Given the description of an element on the screen output the (x, y) to click on. 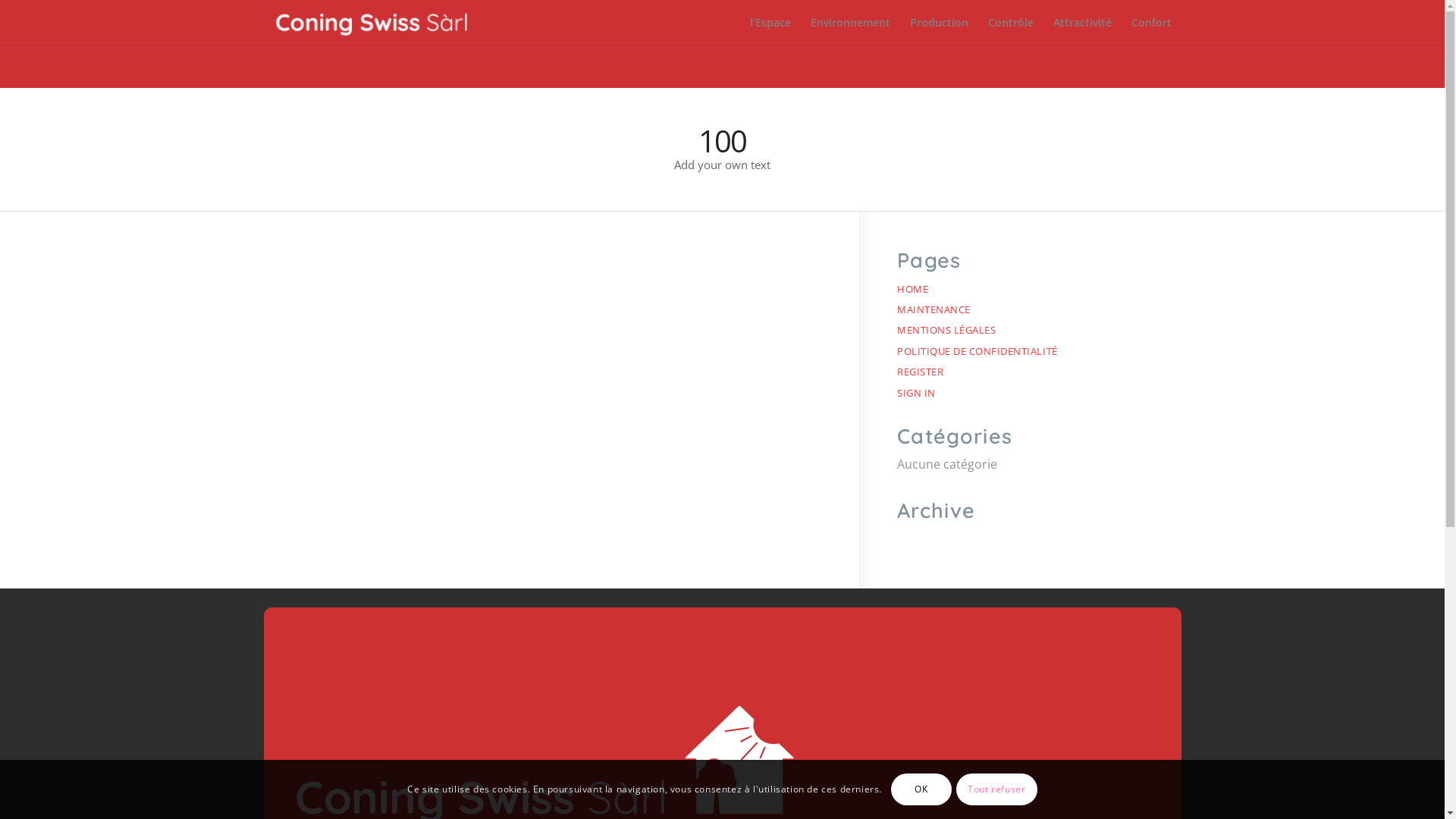
REGISTER Element type: text (920, 371)
Production Element type: text (938, 22)
Tout refuser Element type: text (996, 789)
MAINTENANCE Element type: text (933, 309)
HOME Element type: text (912, 288)
Confort Element type: text (1150, 22)
SIGN IN Element type: text (916, 392)
OK Element type: text (921, 789)
Environnement Element type: text (850, 22)
